Given the description of an element on the screen output the (x, y) to click on. 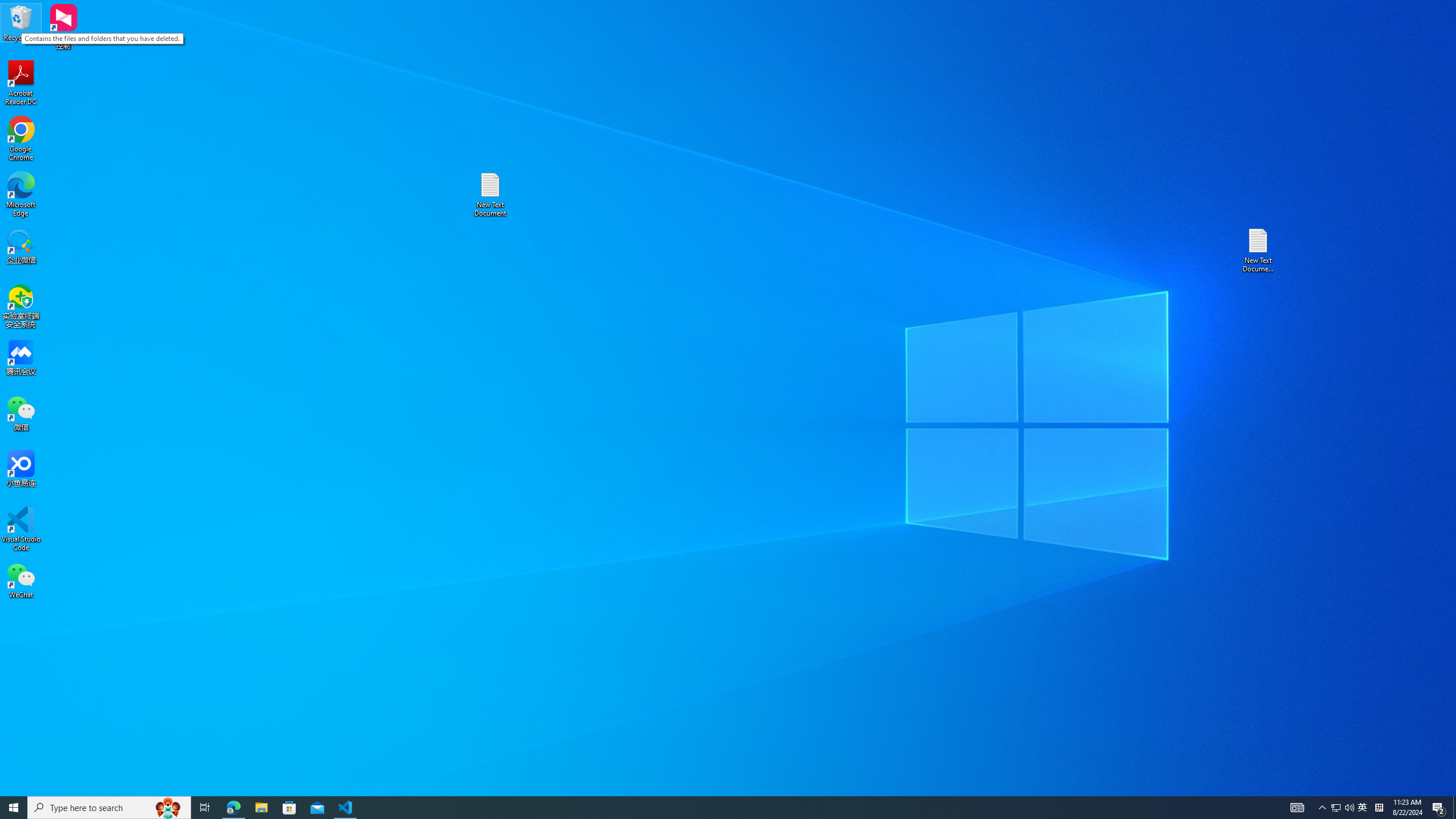
Microsoft Edge - 1 running window (233, 807)
Microsoft Store (289, 807)
Visual Studio Code - 1 running window (345, 807)
